Given the description of an element on the screen output the (x, y) to click on. 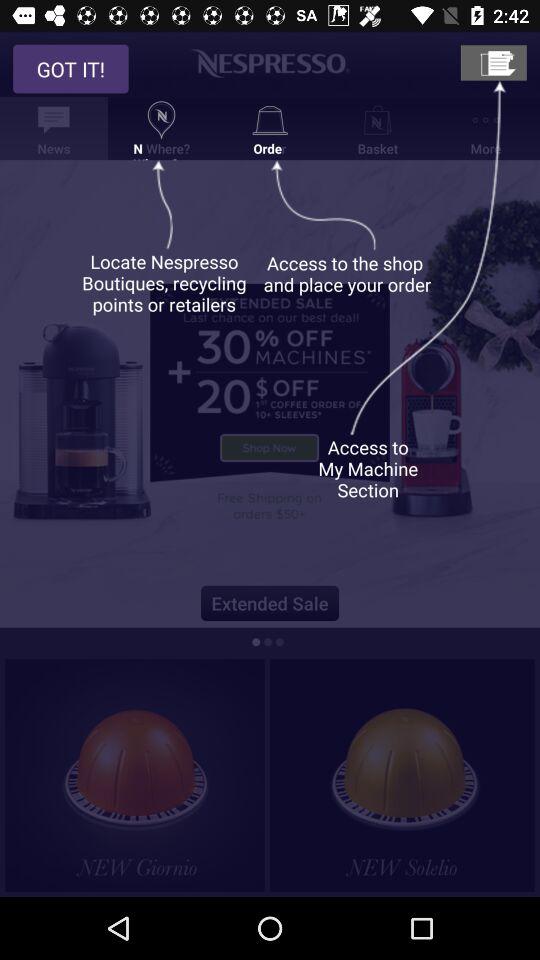
go to my machine (493, 62)
